Given the description of an element on the screen output the (x, y) to click on. 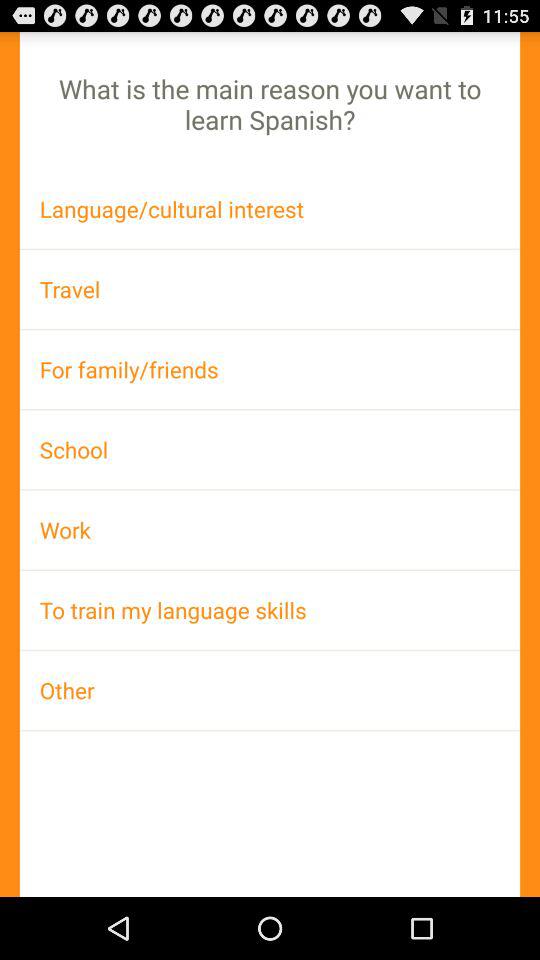
click item below school app (269, 529)
